Given the description of an element on the screen output the (x, y) to click on. 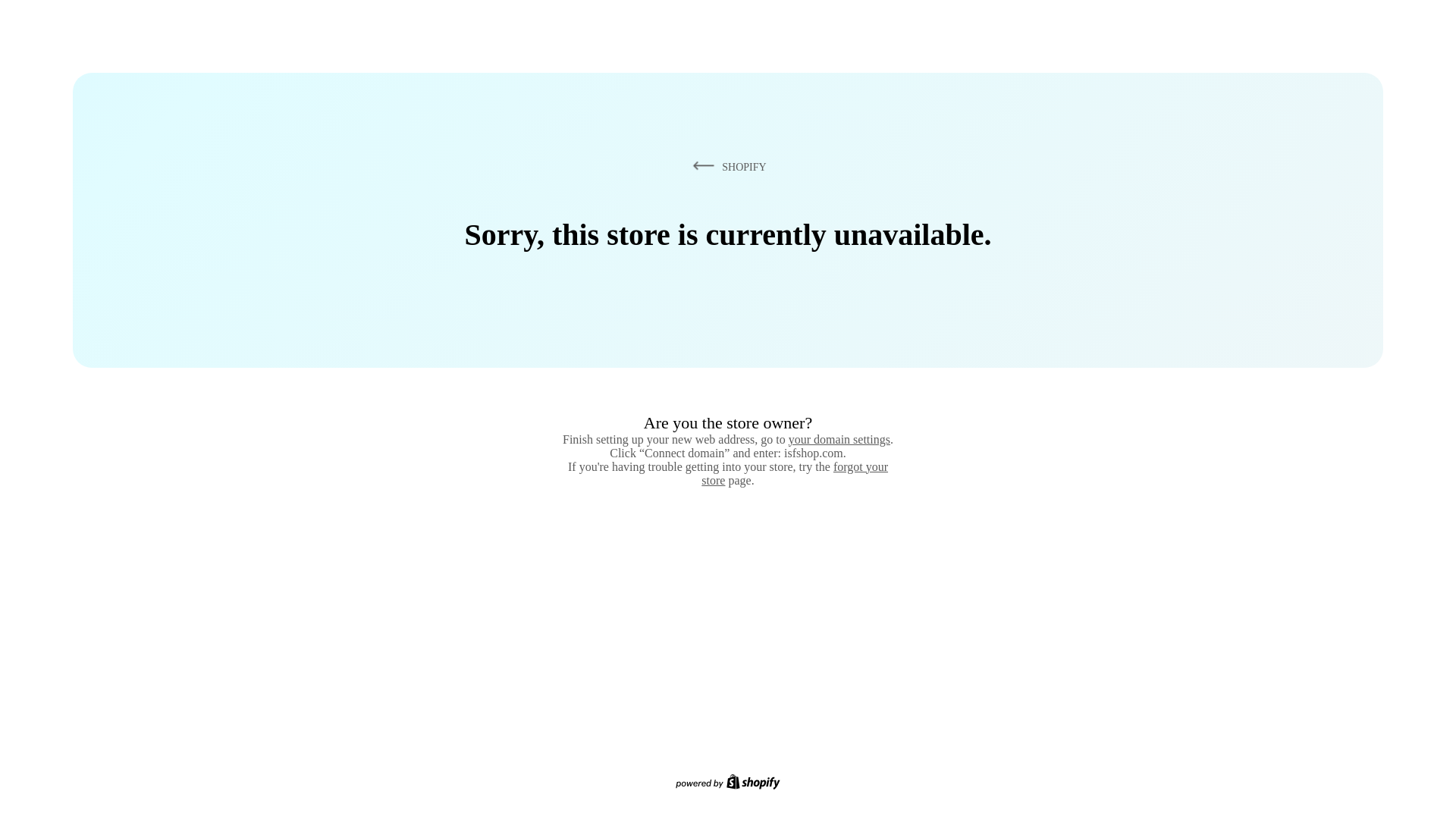
forgot your store (794, 473)
your domain settings (839, 439)
SHOPIFY (726, 166)
